Given the description of an element on the screen output the (x, y) to click on. 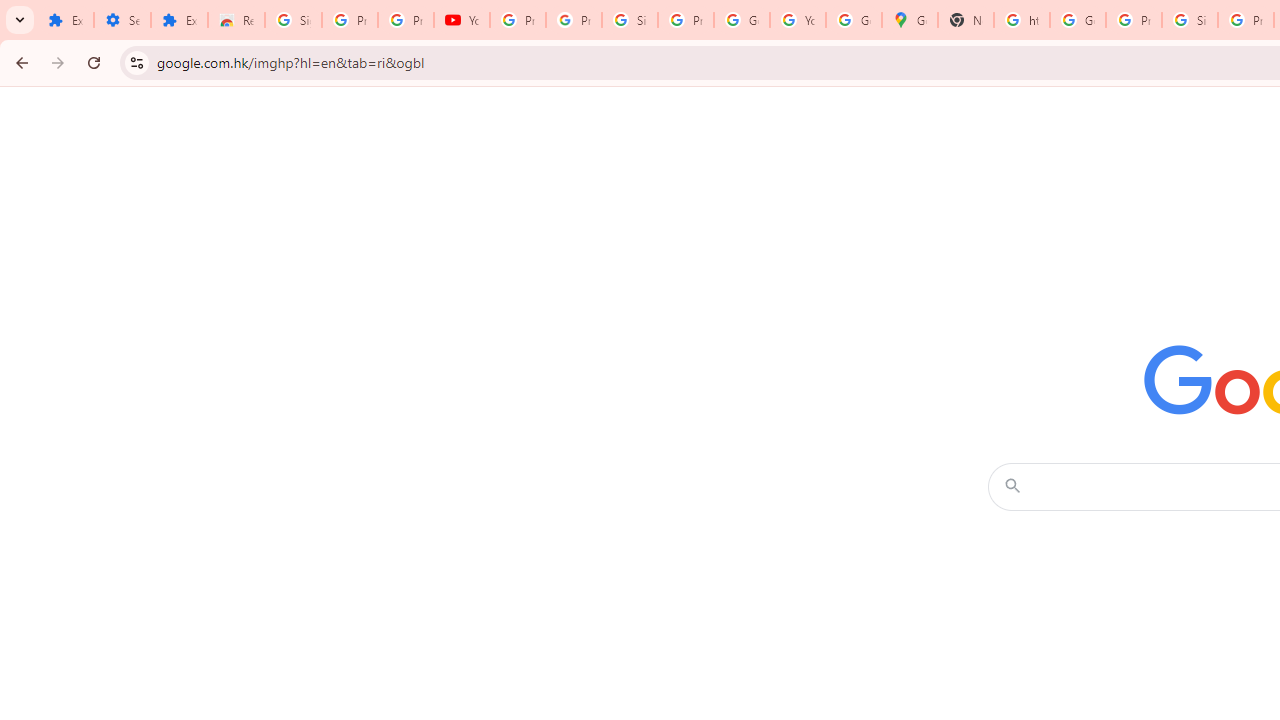
Google Maps (909, 20)
Sign in - Google Accounts (629, 20)
Reviews: Helix Fruit Jump Arcade Game (235, 20)
YouTube (797, 20)
Settings (122, 20)
New Tab (966, 20)
